Given the description of an element on the screen output the (x, y) to click on. 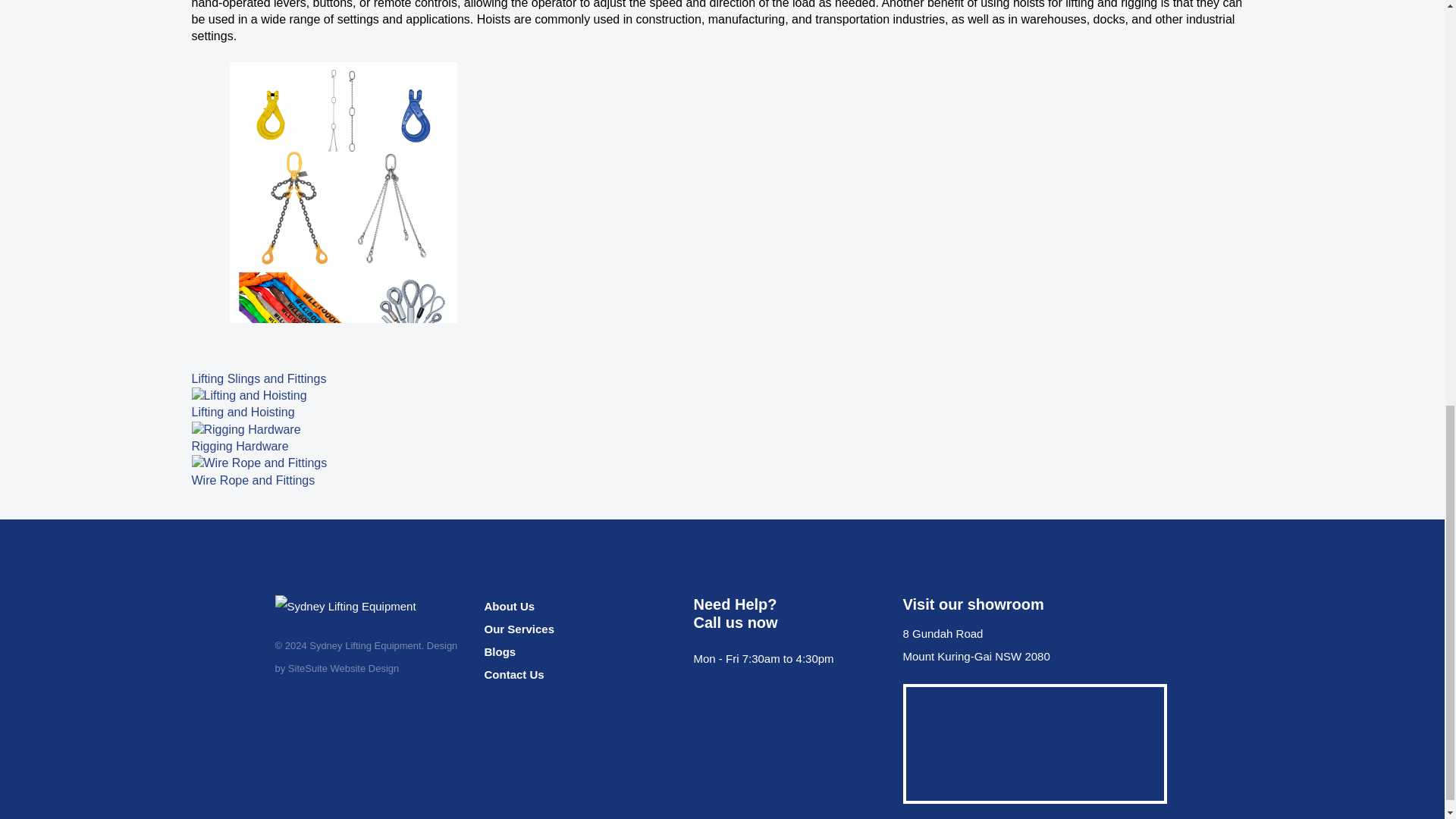
Wire Rope and Fittings (258, 463)
Rigging Hardware (244, 429)
Lifting Slings and Fittings (342, 213)
Lifting and Hoisting (247, 395)
